Given the description of an element on the screen output the (x, y) to click on. 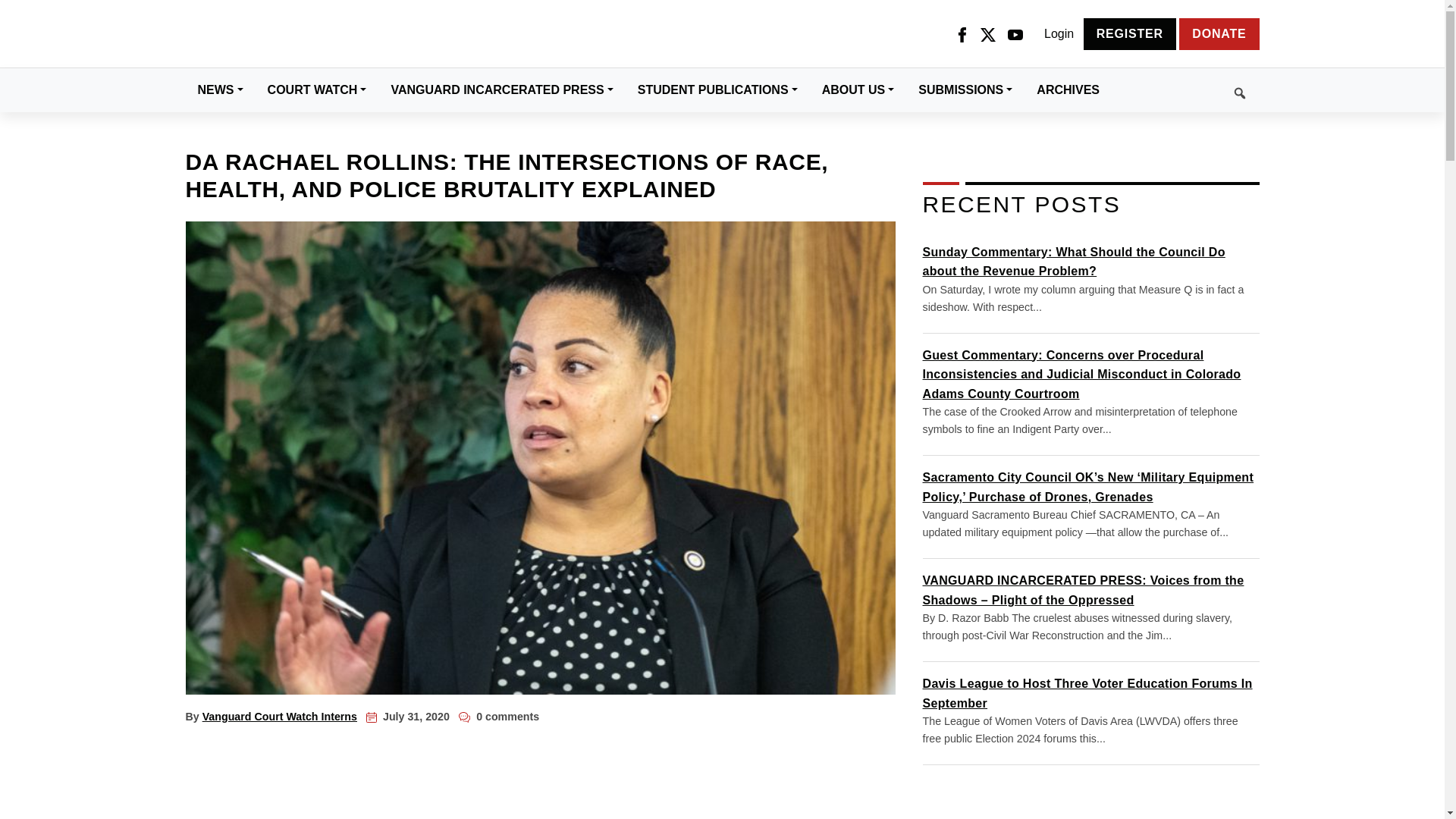
REGISTER (1129, 33)
DONATE (1219, 33)
YouTube (1015, 34)
Facebook (962, 34)
Twitter (987, 34)
NEWS (219, 89)
Search (1185, 90)
Login (1058, 34)
